Given the description of an element on the screen output the (x, y) to click on. 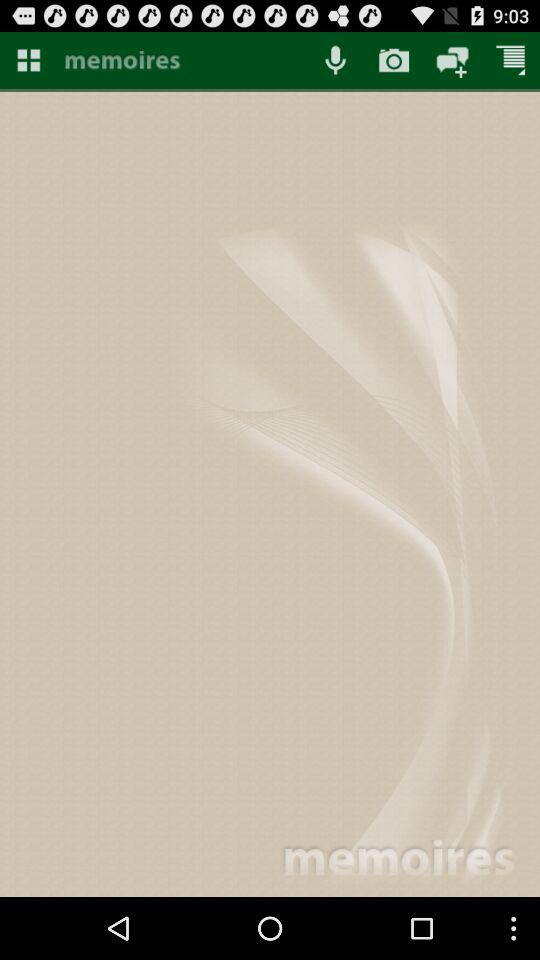
button to go to app home (182, 61)
